Given the description of an element on the screen output the (x, y) to click on. 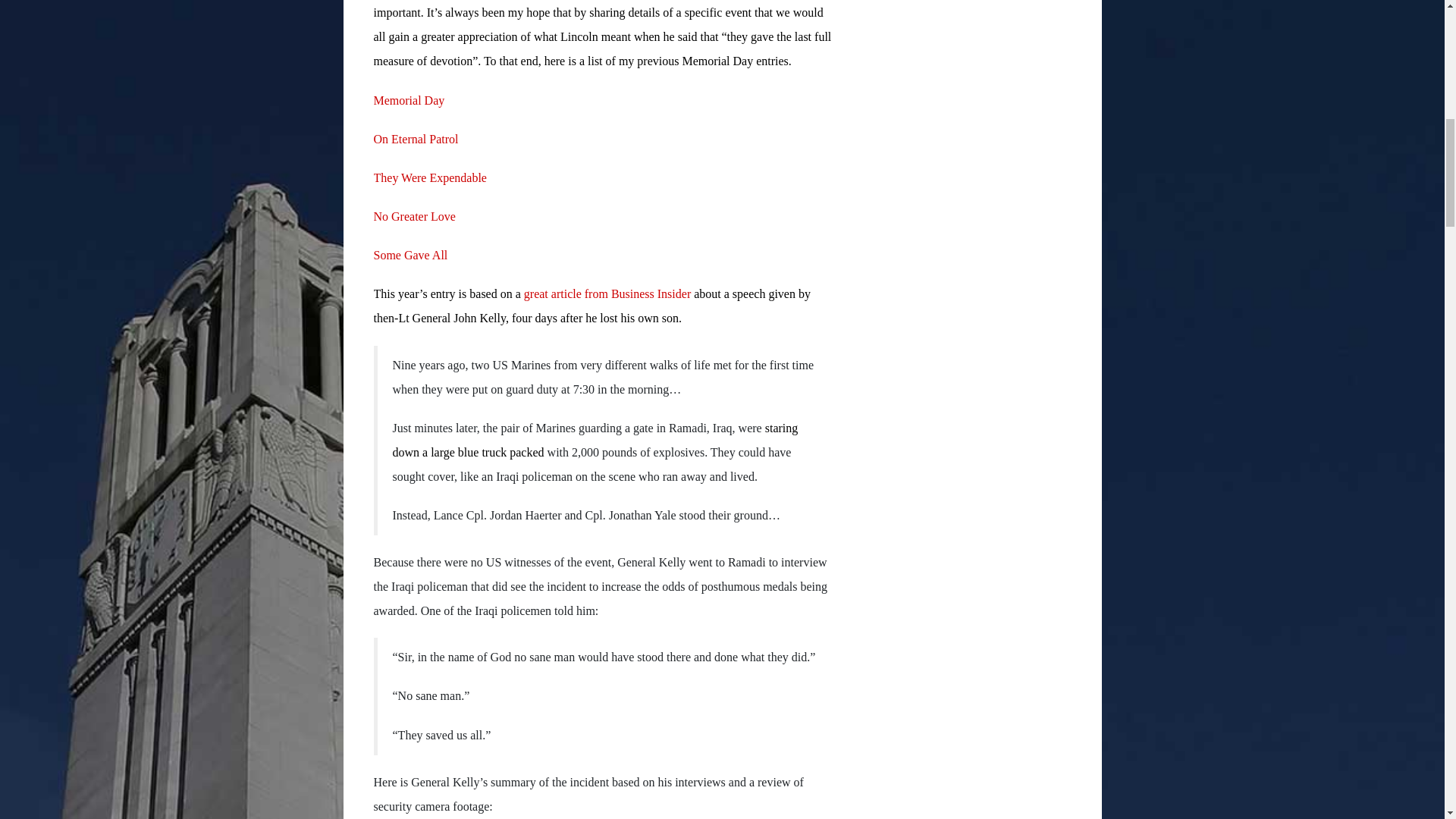
On Eternal Patrol (415, 138)
Some Gave All (409, 254)
Memorial Day (408, 100)
great article from Business Insider (607, 293)
No Greater Love (413, 215)
They Were Expendable (429, 177)
